Given the description of an element on the screen output the (x, y) to click on. 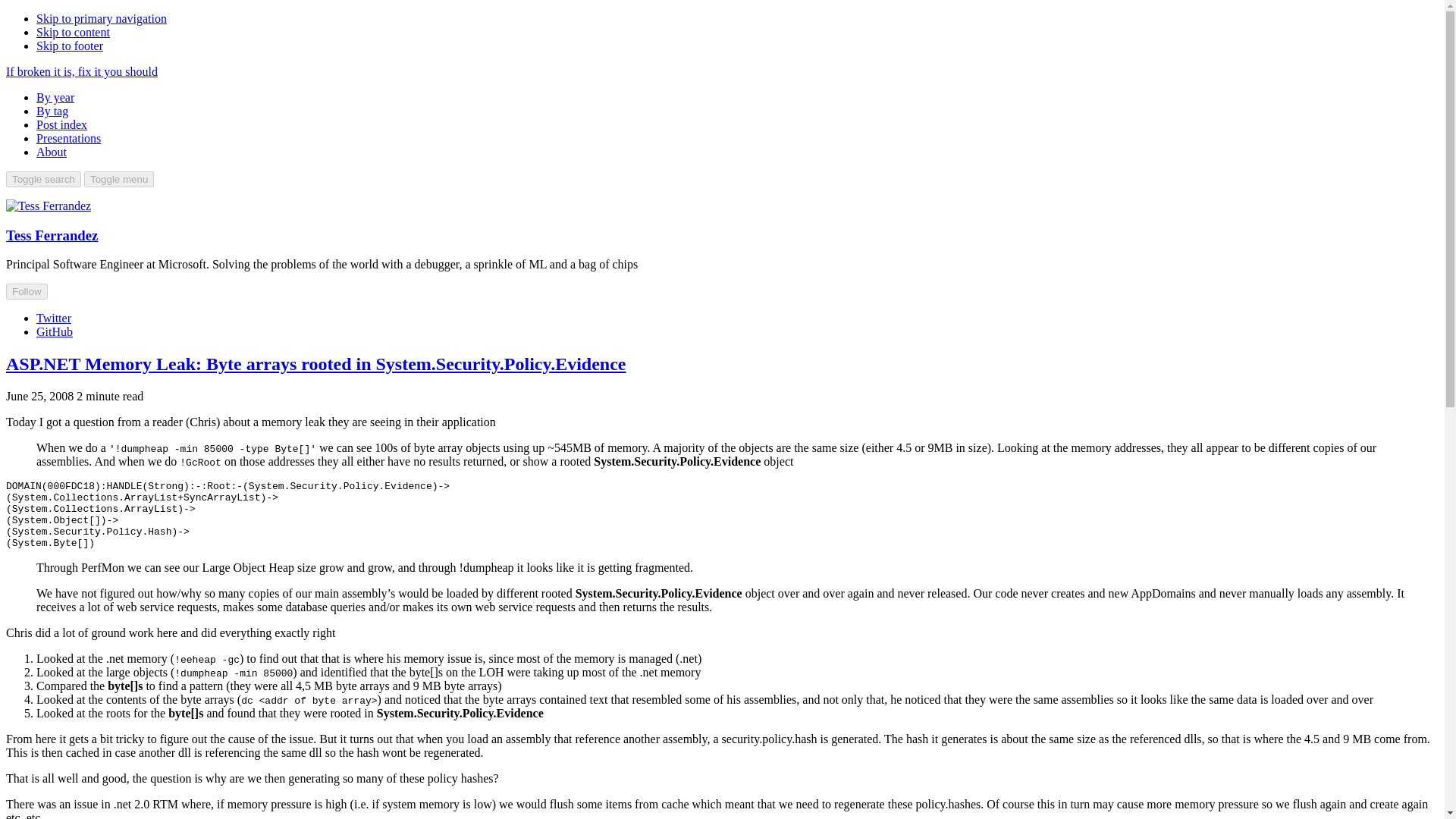
GitHub (54, 331)
Skip to footer (69, 45)
Toggle menu (119, 179)
By tag (52, 110)
Skip to content (73, 31)
Twitter (53, 318)
Skip to primary navigation (101, 18)
Post index (61, 124)
Tess Ferrandez (51, 235)
Toggle search (43, 179)
Presentations (68, 137)
By year (55, 97)
Follow (26, 291)
If broken it is, fix it you should (81, 71)
